Given the description of an element on the screen output the (x, y) to click on. 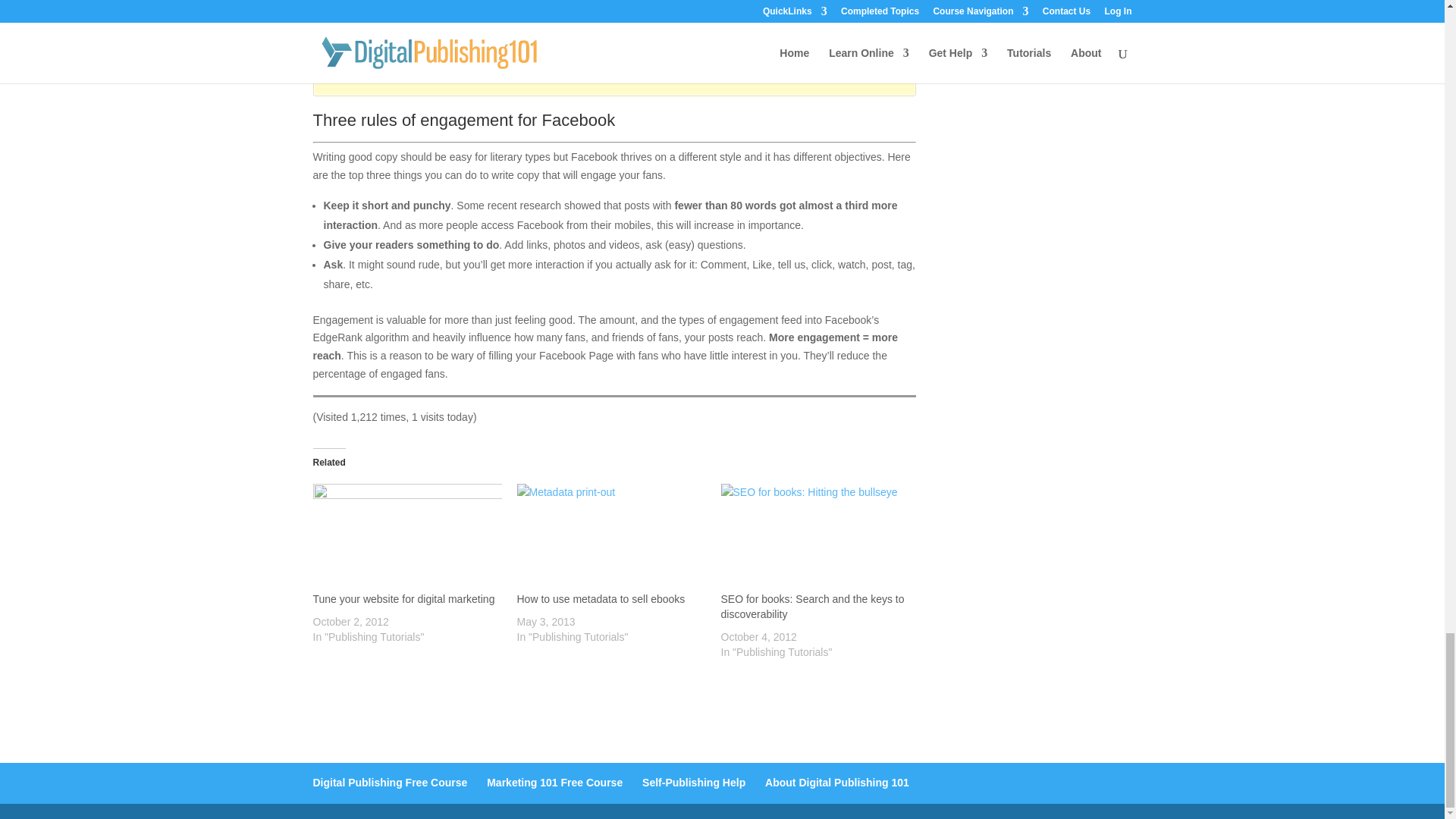
SEO for books: Search and the keys to discoverability (814, 537)
Tune your website for digital marketing (406, 537)
How to use metadata to sell ebooks (611, 537)
How to use metadata to sell ebooks (600, 598)
Tune your website for digital marketing (404, 598)
SEO for books: Search and the keys to discoverability (812, 605)
